Given the description of an element on the screen output the (x, y) to click on. 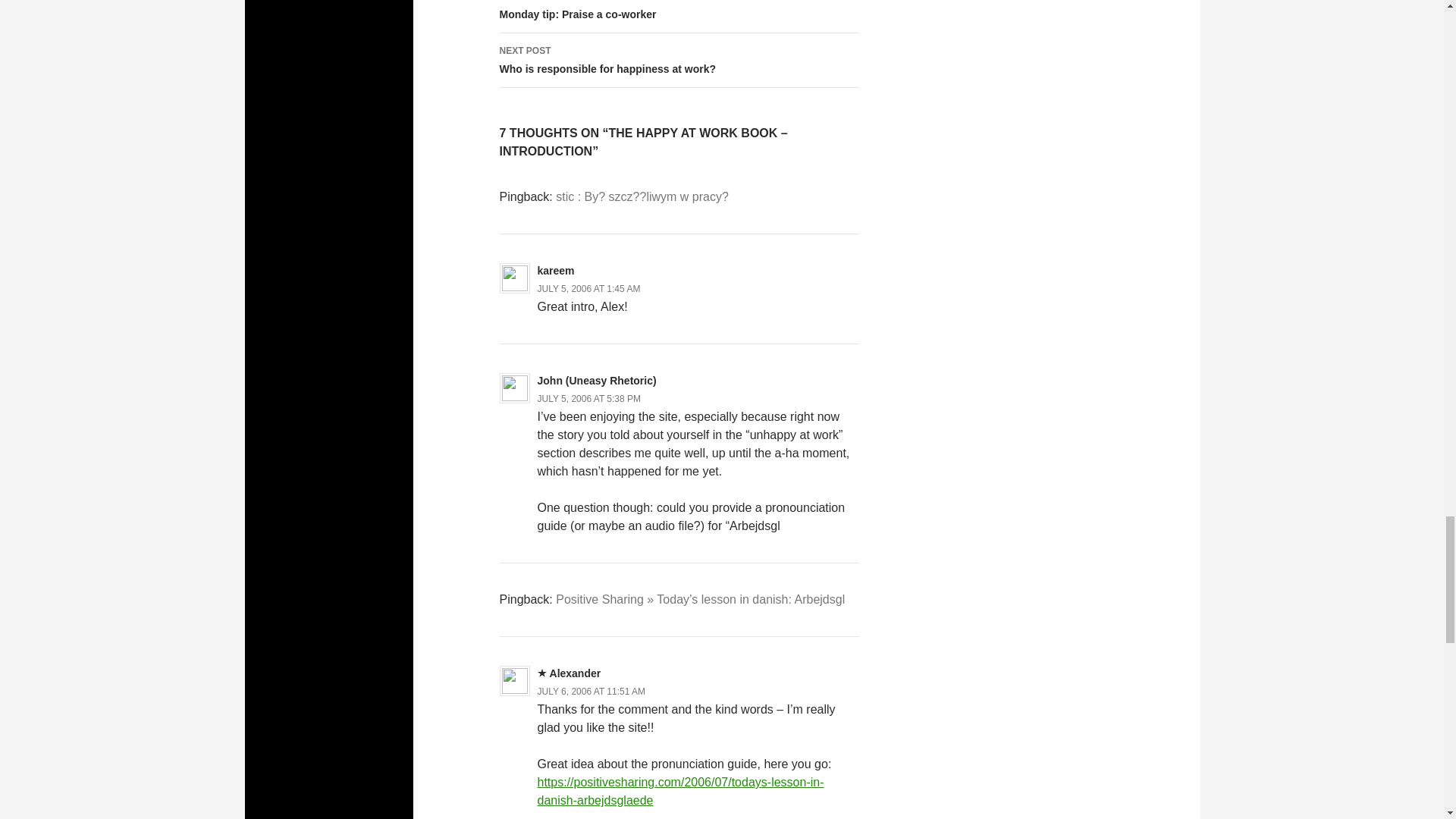
JULY 5, 2006 AT 5:38 PM (589, 398)
stic : By? szcz??liwym w pracy? (679, 60)
JULY 5, 2006 AT 1:45 AM (642, 196)
Alexander (588, 288)
kareem (575, 673)
JULY 6, 2006 AT 11:51 AM (679, 16)
